Given the description of an element on the screen output the (x, y) to click on. 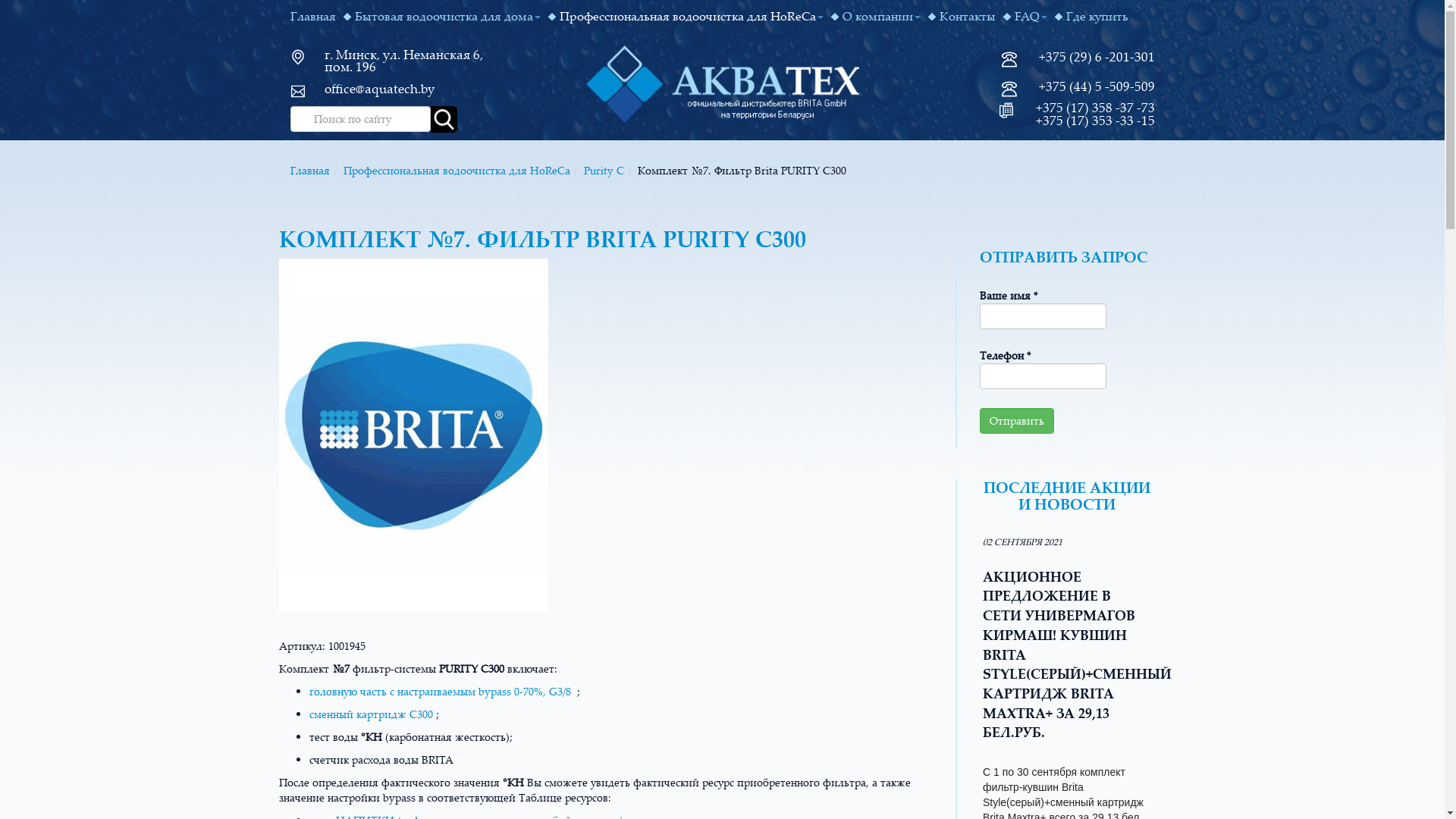
office@aquatech.by Element type: text (379, 88)
+375 (44) 5 -509-509 Element type: text (1094, 85)
+375 (29) 6 -201-301 Element type: text (1094, 56)
Purity C Element type: text (603, 170)
+375 (17) 353 -33 -15 Element type: text (1094, 119)
+375 (17) 358 -37 -73 Element type: text (1093, 107)
aquatech.by Element type: hover (721, 82)
FAQ Element type: text (1028, 16)
